Given the description of an element on the screen output the (x, y) to click on. 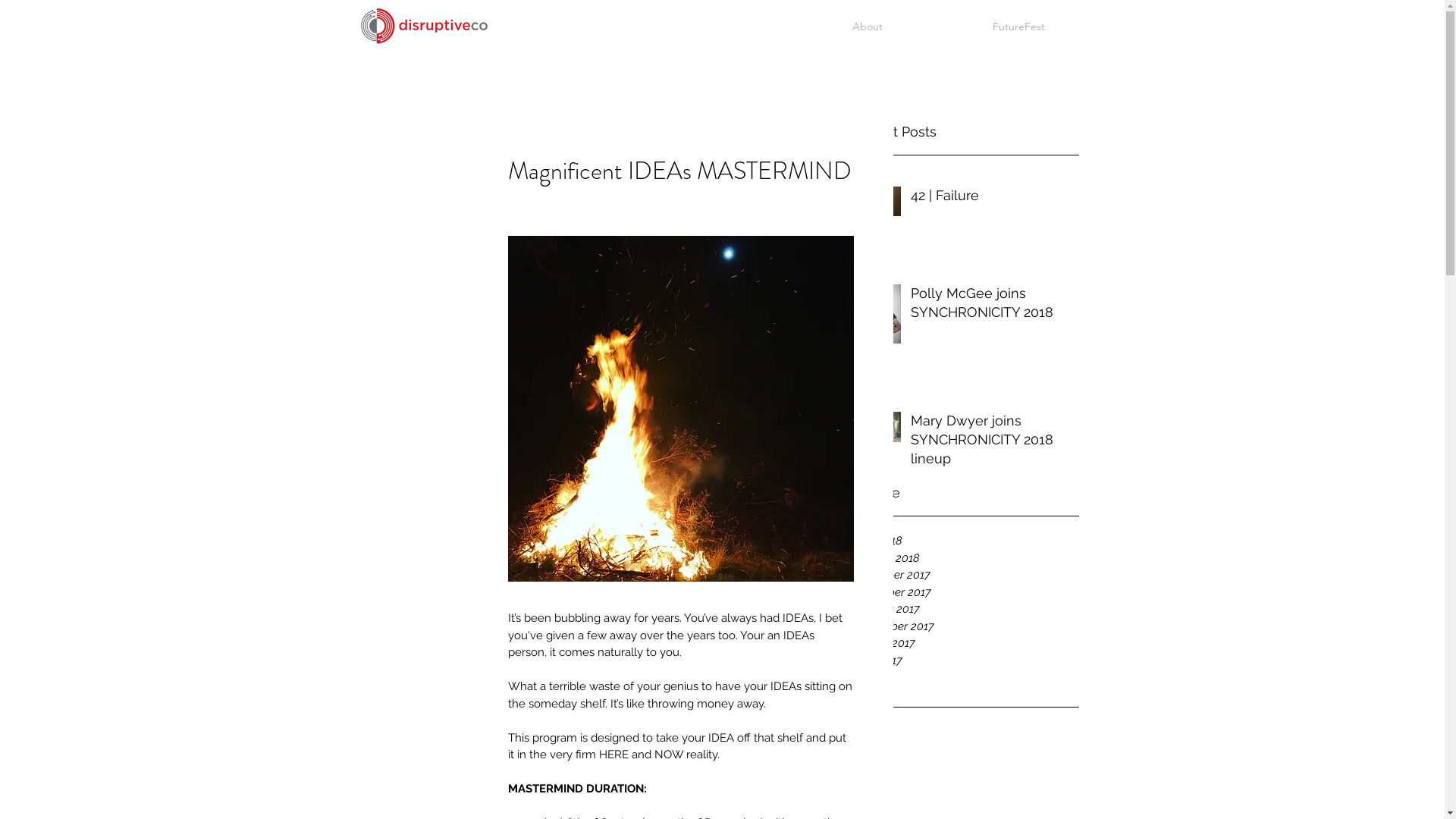
42 | Failure Element type: text (989, 197)
January 2018 Element type: text (964, 557)
June 2017 Element type: text (964, 660)
December 2017 Element type: text (964, 574)
FutureFest Element type: text (1018, 26)
September 2017 Element type: text (964, 625)
November 2017 Element type: text (964, 592)
August 2017 Element type: text (964, 643)
About Element type: text (867, 26)
Polly McGee joins SYNCHRONICITY 2018 Element type: text (989, 305)
April 2018 Element type: text (964, 540)
October 2017 Element type: text (964, 609)
Mary Dwyer joins SYNCHRONICITY 2018 lineup Element type: text (989, 442)
